Given the description of an element on the screen output the (x, y) to click on. 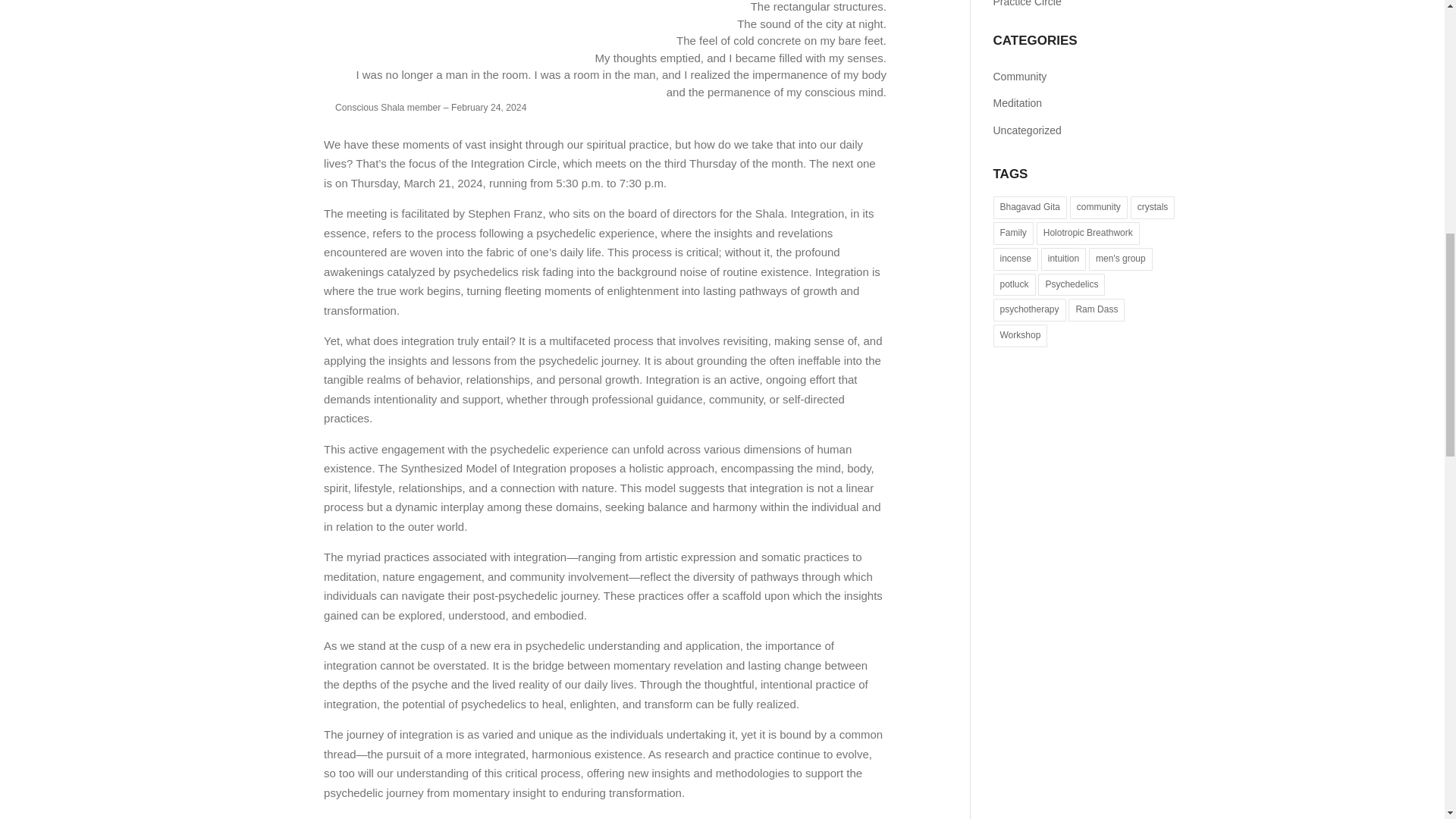
Uncategorized (1084, 130)
The Healing Power of the Energy Practice Circle (1071, 3)
Community (1084, 76)
community (1098, 207)
Meditation (1084, 103)
Bhagavad Gita (1029, 207)
